Given the description of an element on the screen output the (x, y) to click on. 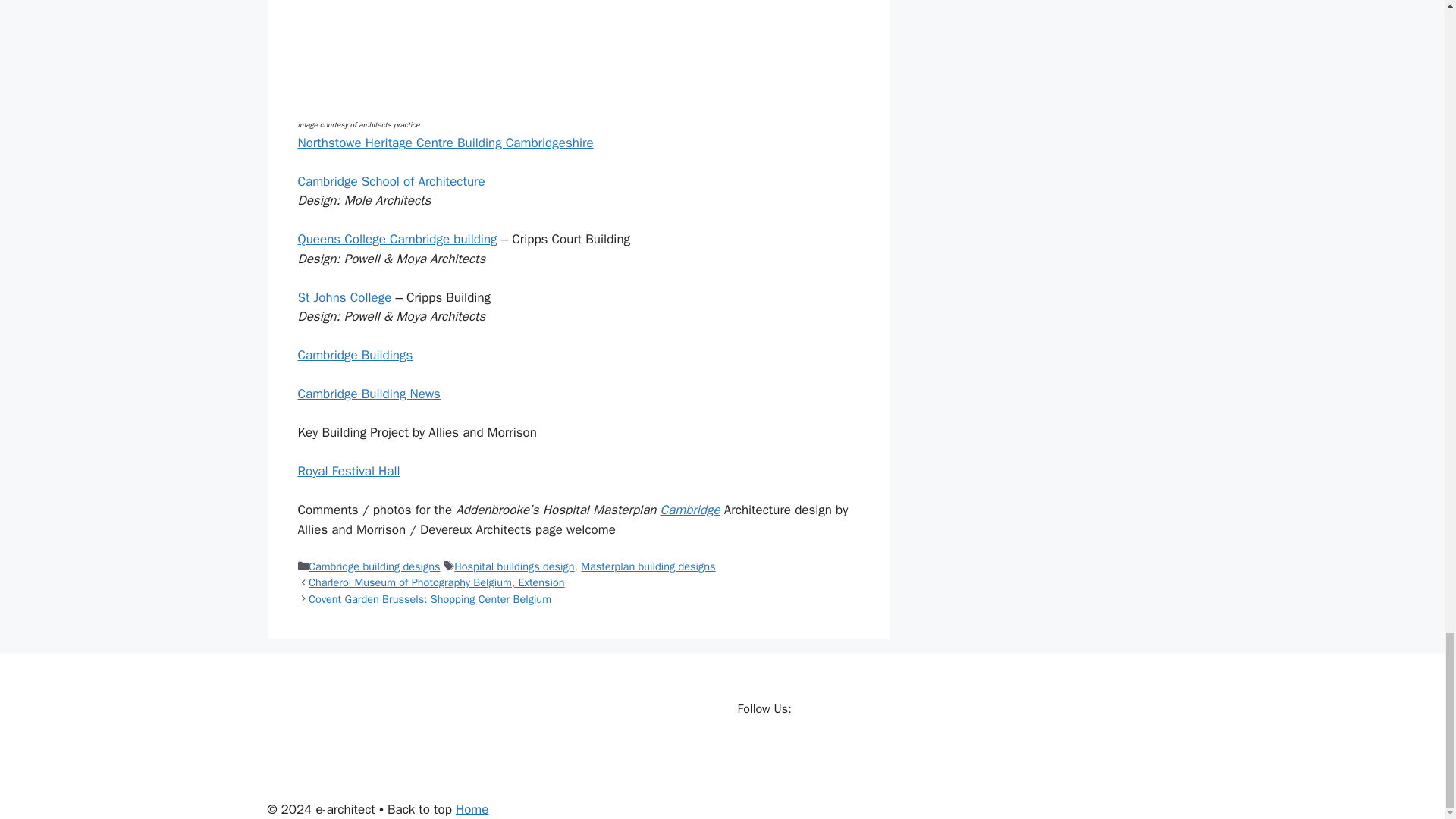
Queens College Cambridge building (396, 238)
Northstowe Heritage Centre Building Cambridgeshire (444, 142)
St Johns College (344, 297)
instagram (842, 750)
facebook (749, 750)
Cambridge School of Architecture (390, 181)
linkedin (811, 750)
twitter (781, 750)
